Given the description of an element on the screen output the (x, y) to click on. 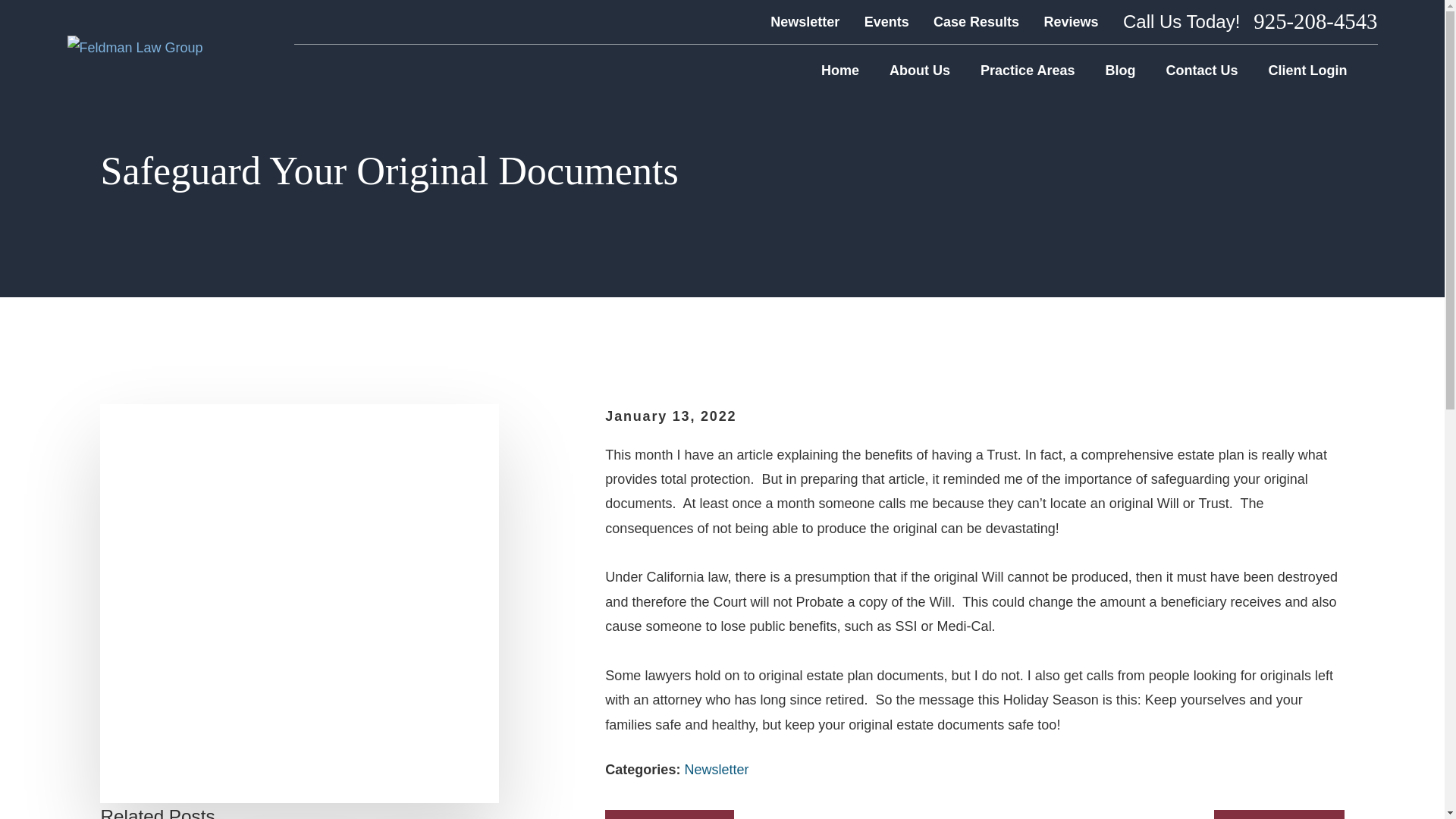
About Us (919, 70)
Home (134, 47)
925-208-4543 (1315, 21)
Events (886, 21)
Reviews (1070, 21)
Home (840, 70)
Case Results (976, 21)
Newsletter (805, 21)
Practice Areas (1026, 70)
Blog (1120, 70)
